Given the description of an element on the screen output the (x, y) to click on. 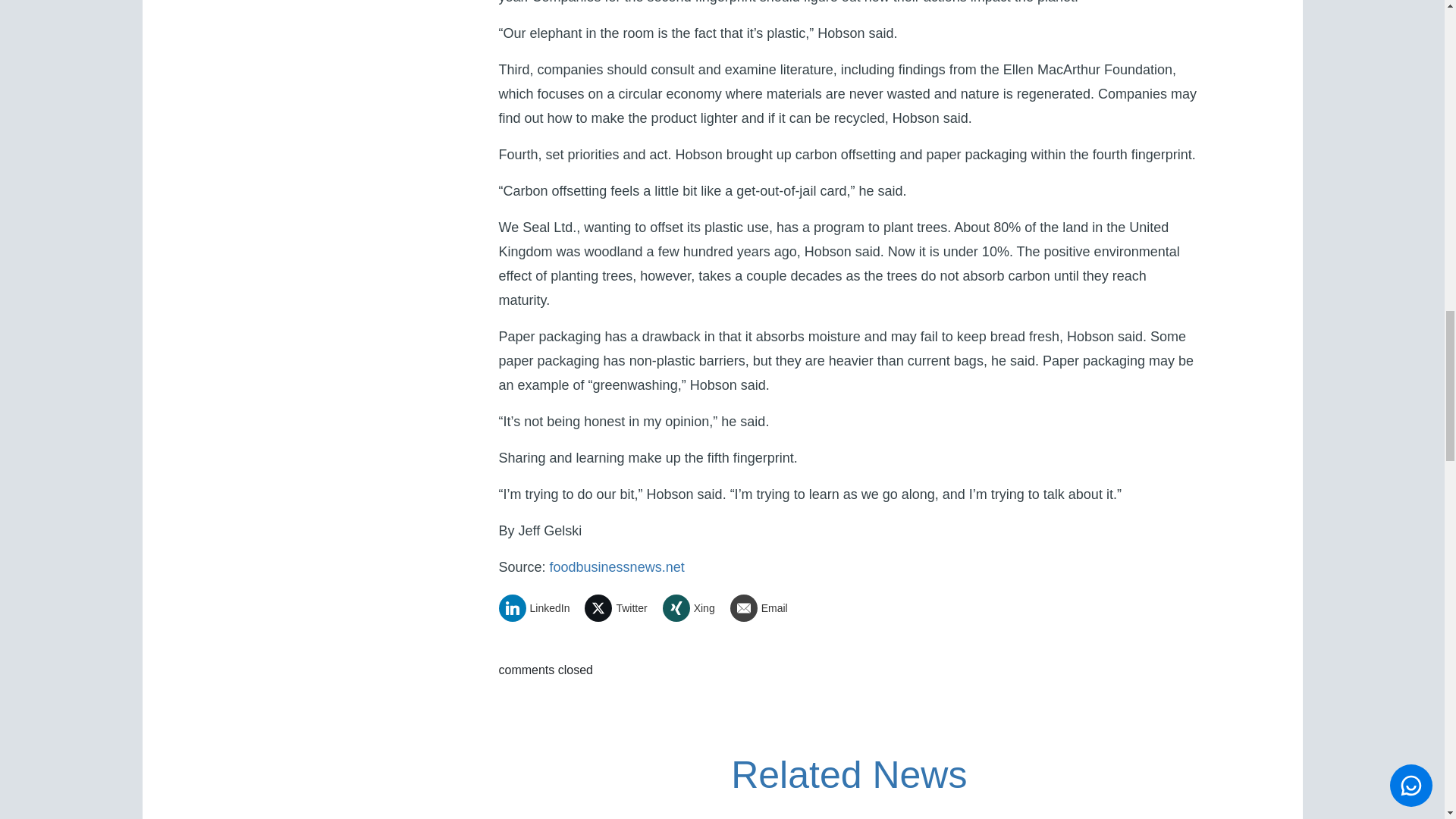
foodbusinessnews.net (617, 566)
Share on Twitter (621, 607)
Share on Email (764, 607)
LinkedIn (539, 607)
Share on Xing (694, 607)
Share on LinkedIn (539, 607)
